Given the description of an element on the screen output the (x, y) to click on. 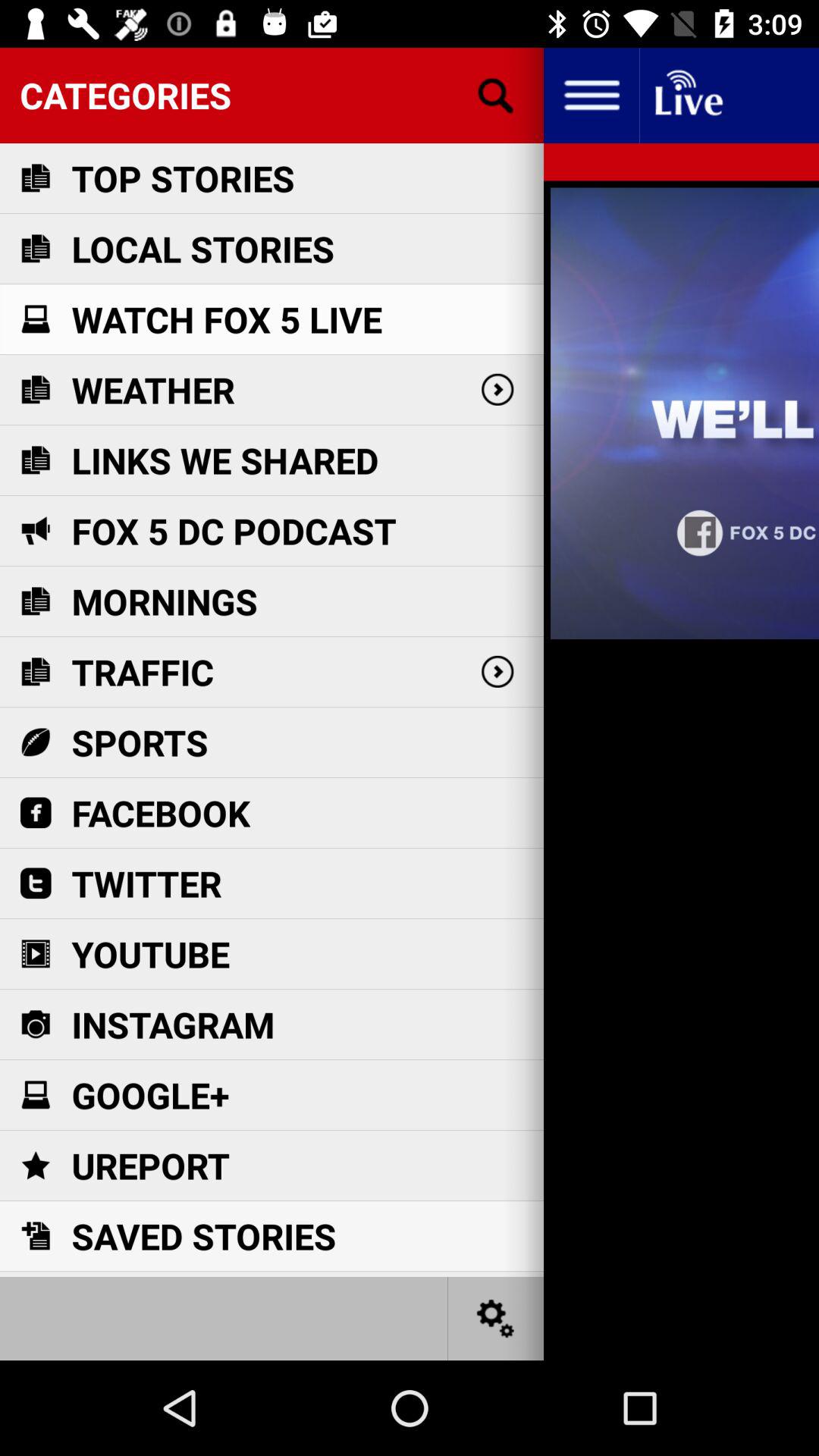
click the local stories icon (202, 248)
